Given the description of an element on the screen output the (x, y) to click on. 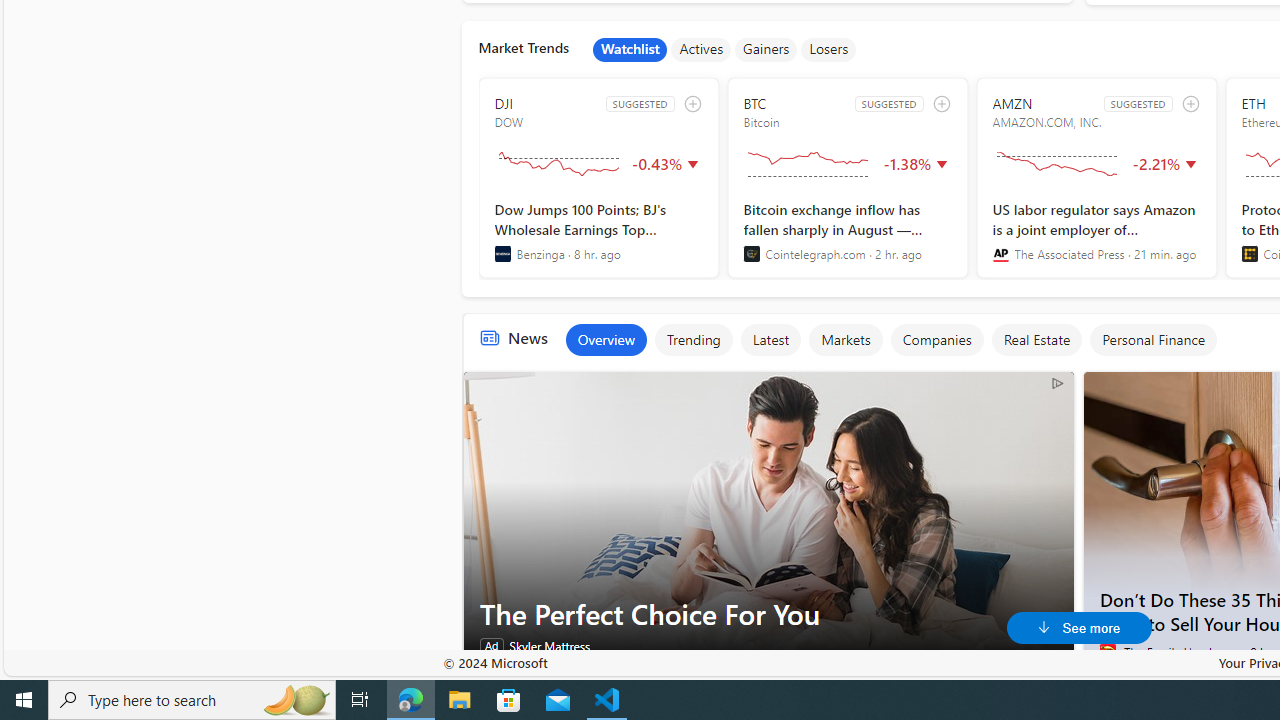
Watchlist (630, 49)
AdChoices (1056, 382)
AMZN SUGGESTED AMAZON.COM, INC. (1096, 178)
